Given the description of an element on the screen output the (x, y) to click on. 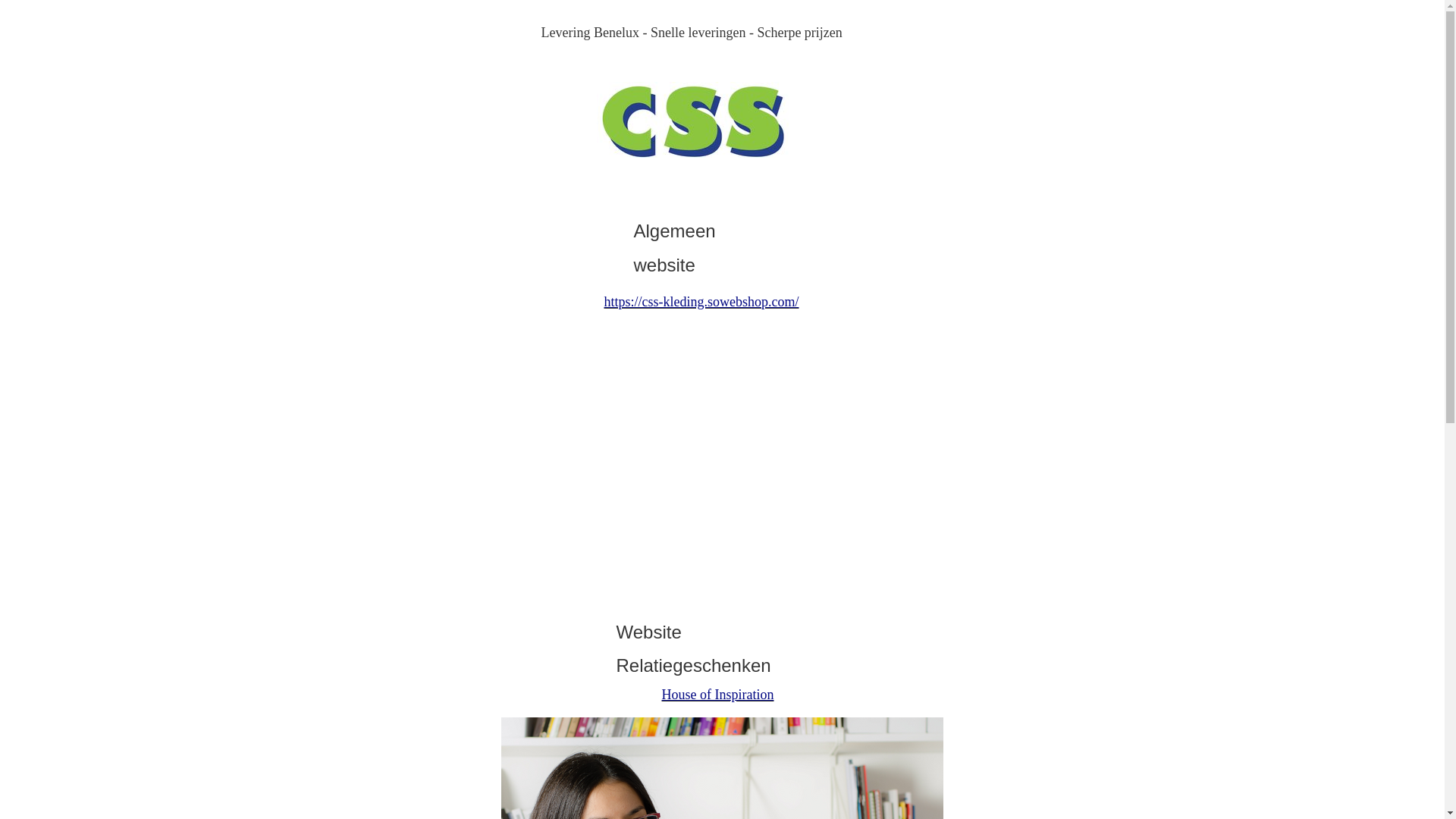
https://css-kleding.sowebshop.com/ Element type: text (700, 301)
House of Inspiration Element type: text (717, 694)
